Given the description of an element on the screen output the (x, y) to click on. 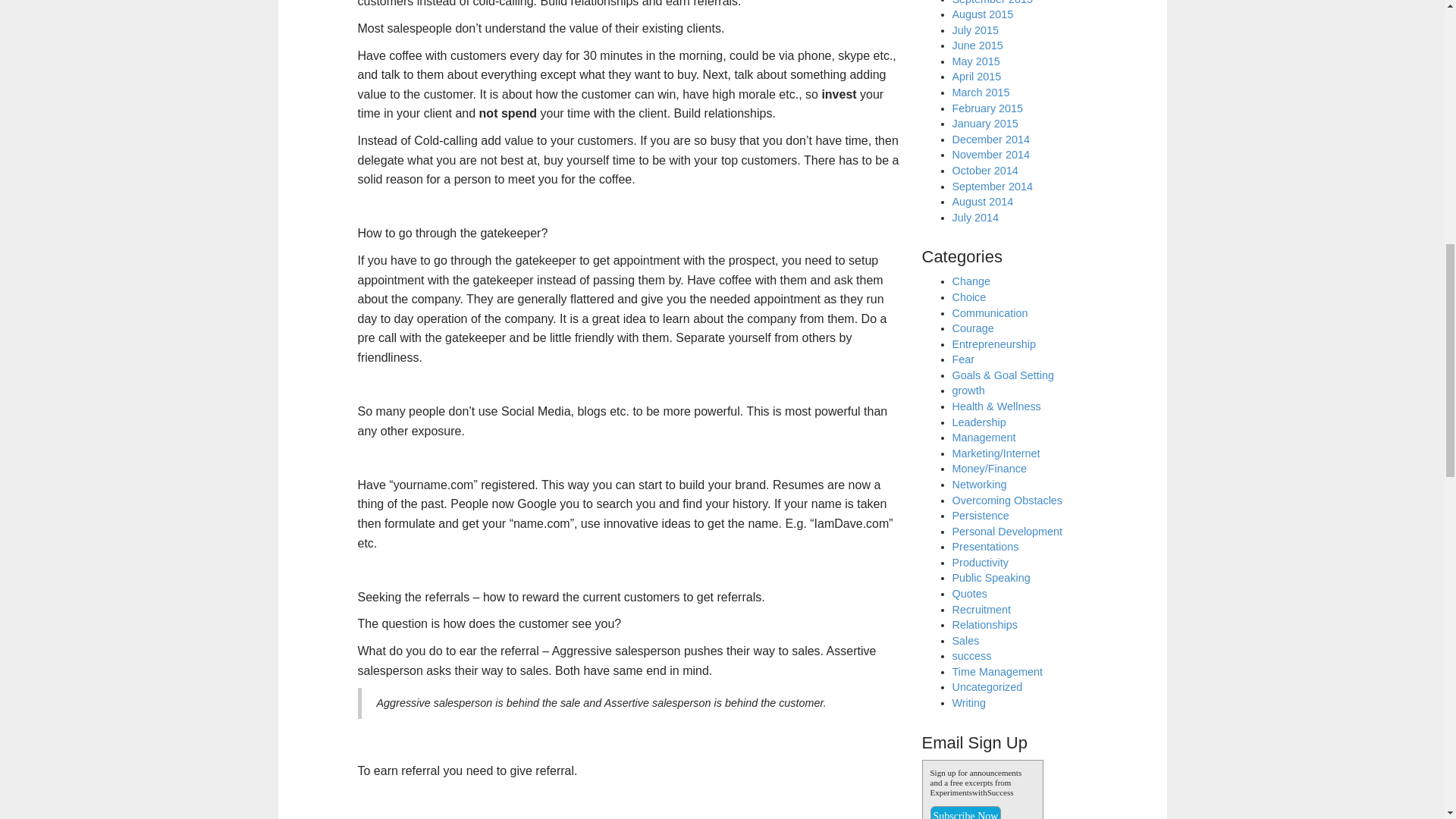
Subscribe Now (965, 812)
